Given the description of an element on the screen output the (x, y) to click on. 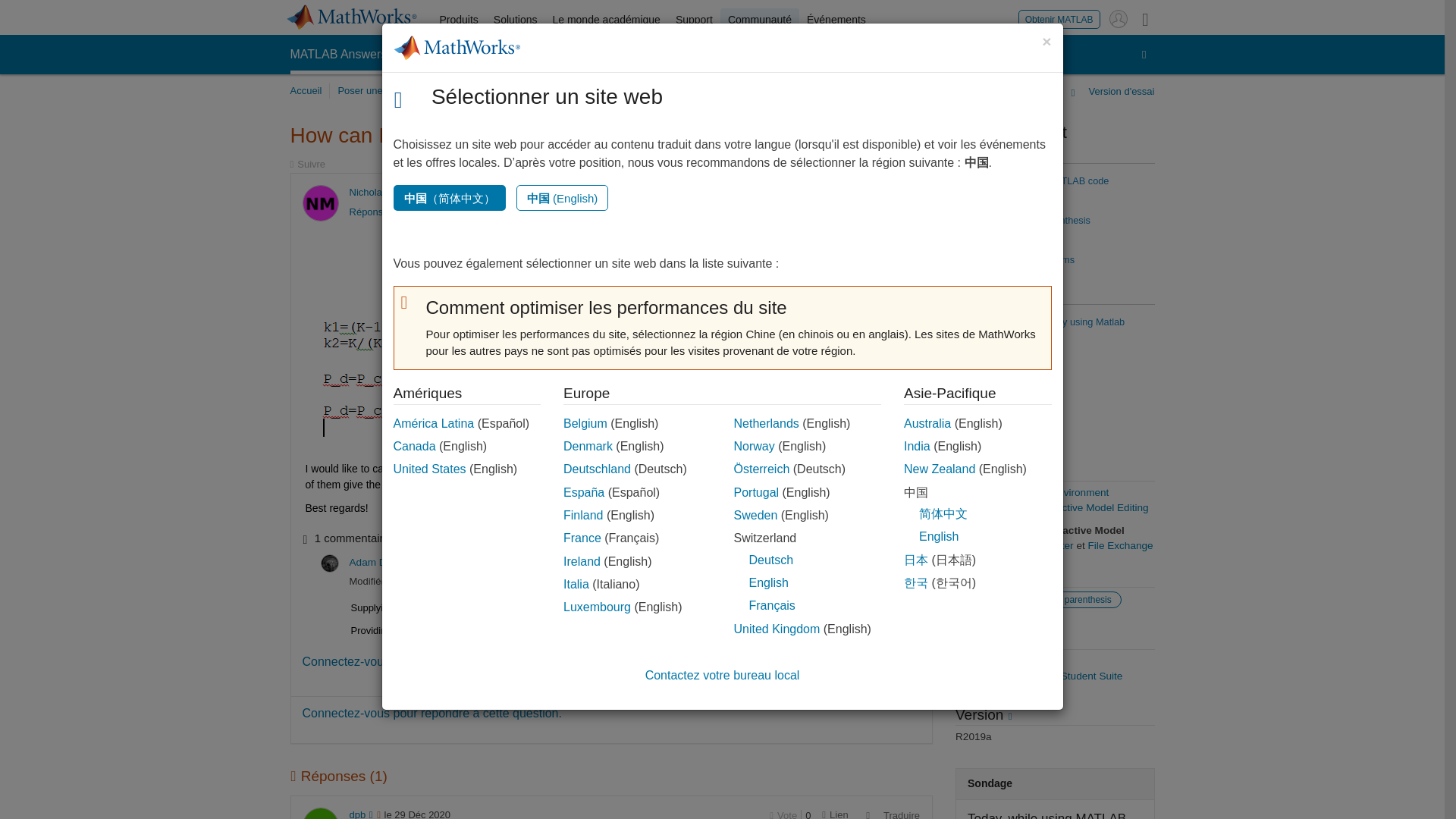
Utiliser le lien direct vers cette question (834, 192)
Support (694, 19)
Se connecter (1117, 18)
Produits (459, 19)
Obtenir MATLAB (1058, 18)
Solutions (515, 19)
